Given the description of an element on the screen output the (x, y) to click on. 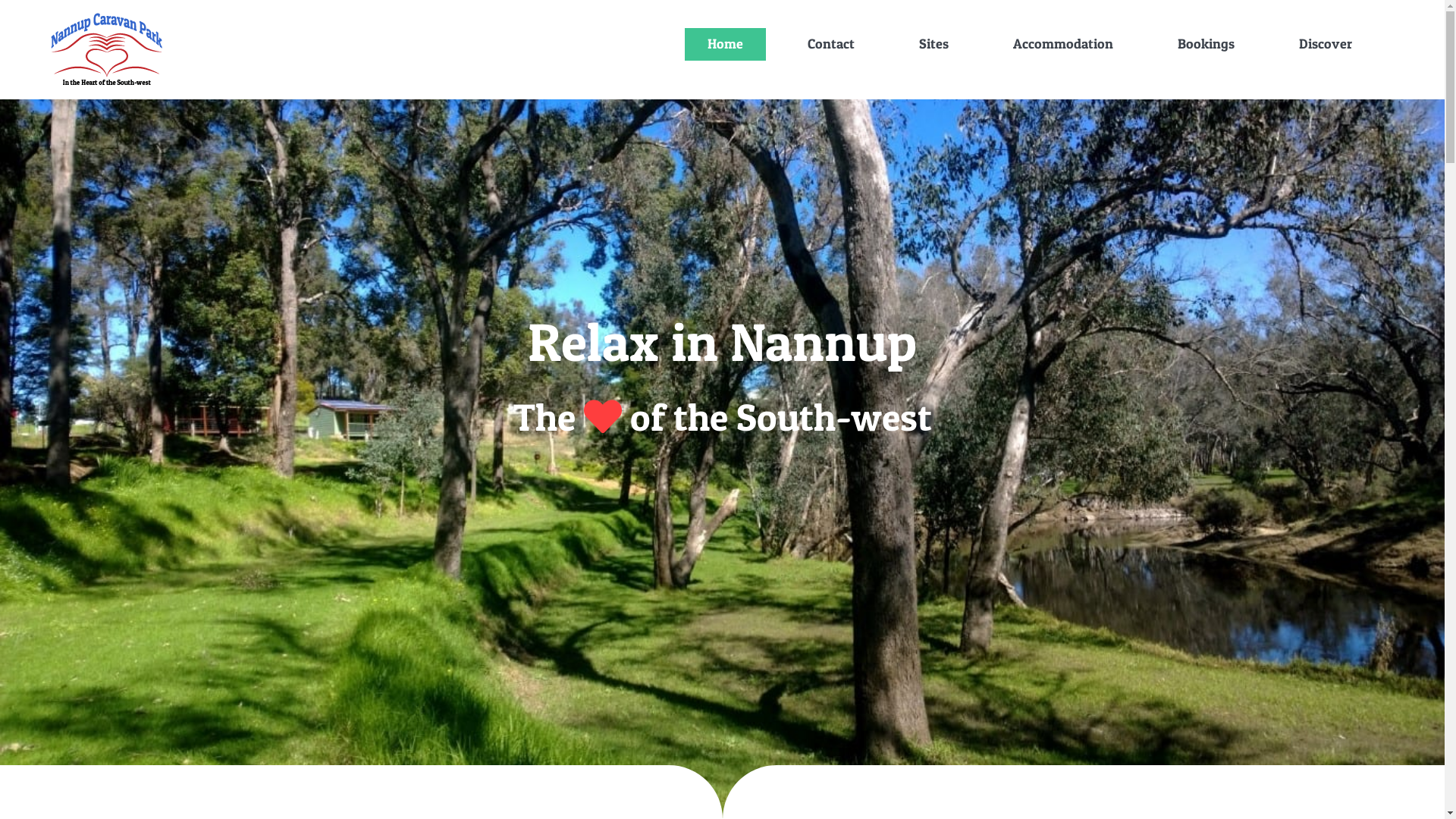
Contact Element type: text (830, 44)
Bookings Element type: text (1205, 44)
Home Element type: text (724, 44)
Discover Element type: text (1325, 44)
Accommodation Element type: text (1062, 44)
Sites Element type: text (933, 44)
